Given the description of an element on the screen output the (x, y) to click on. 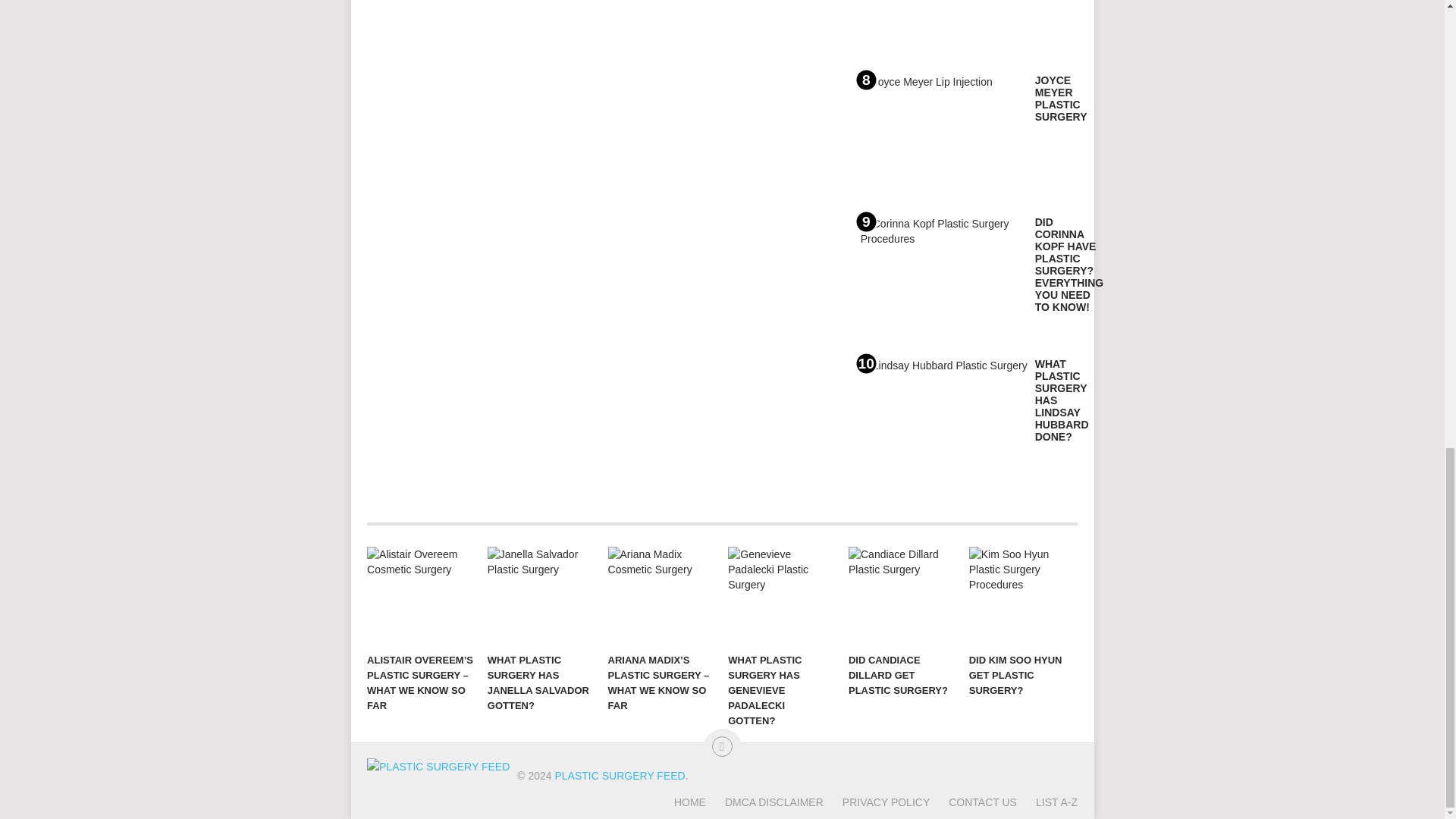
What Plastic Surgery Has Genevieve Padalecki Gotten? (781, 596)
What Plastic Surgery Has Janella Salvador Gotten? (540, 596)
7 (943, 27)
Did Kim Soo Hyun Get Plastic Surgery? (1022, 596)
Did Candiace Dillard Get Plastic Surgery? (901, 596)
WHAT PLASTIC SURGERY HAS GENEVIEVE PADALECKI GOTTEN? (781, 596)
10 (943, 418)
JOYCE MEYER PLASTIC SURGERY (1061, 98)
DID KIM SOO HYUN GET PLASTIC SURGERY? (1022, 596)
9 (943, 277)
